Given the description of an element on the screen output the (x, y) to click on. 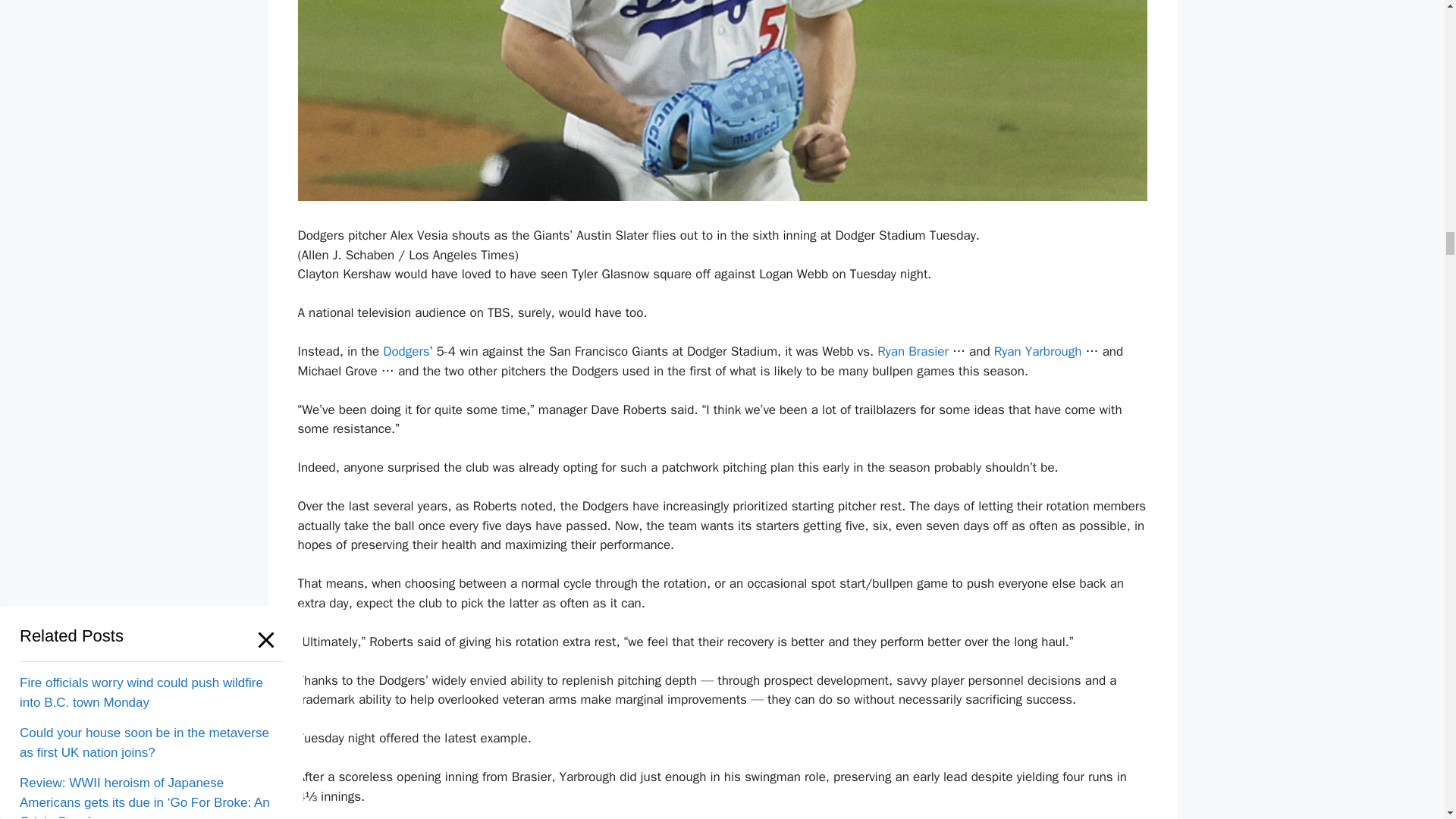
Dodgers (405, 351)
Ryan Yarbrough (1037, 351)
Ryan Brasier (913, 351)
